Given the description of an element on the screen output the (x, y) to click on. 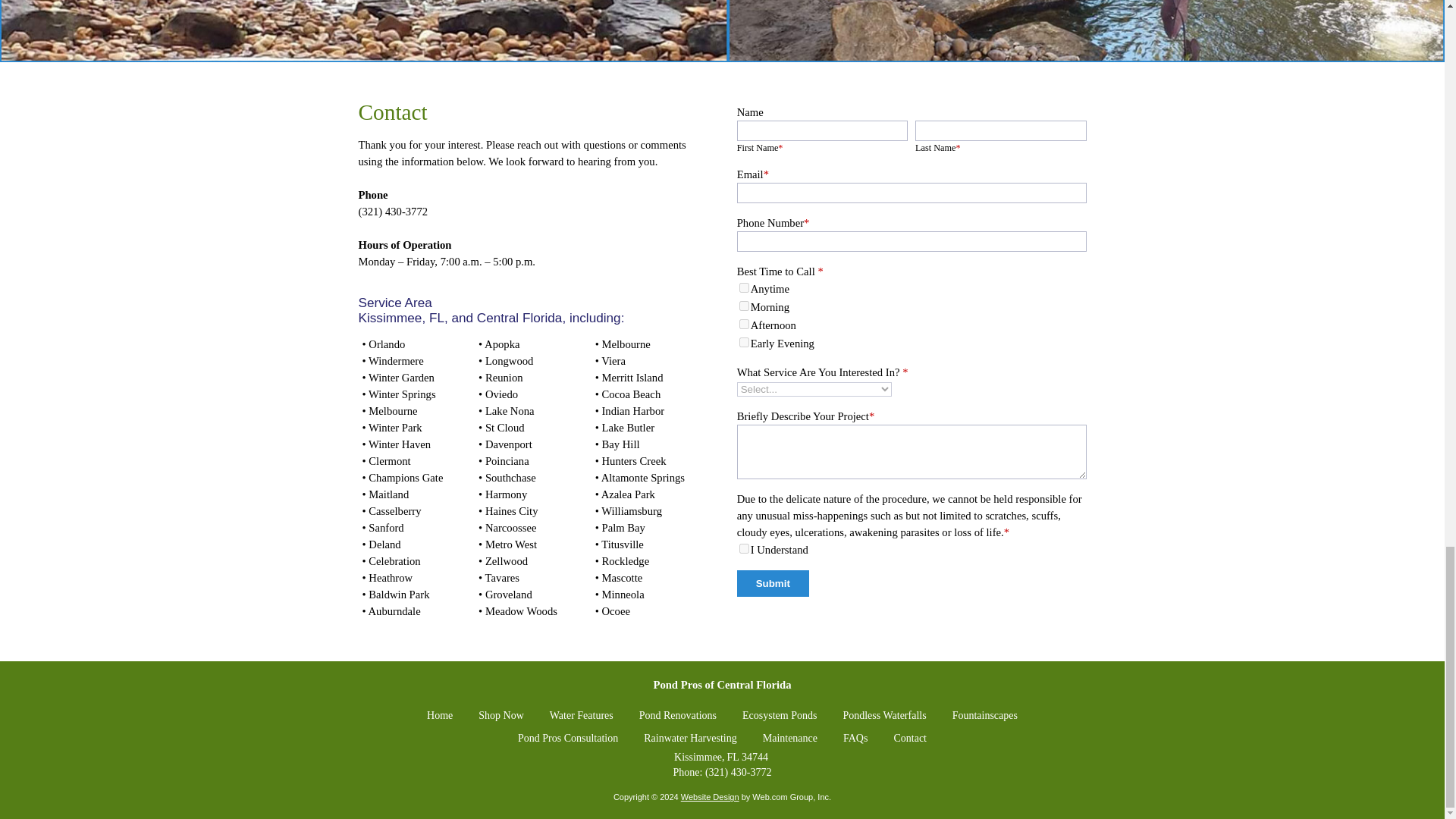
Afternoon (744, 324)
Anytime (744, 287)
Maintenance (789, 738)
Pond Pros Consultation (567, 738)
Ecosystem Ponds (779, 715)
Home (439, 715)
Submit (772, 583)
FAQs (855, 738)
Pond Renovations (677, 715)
I Understand (744, 548)
Fountainscapes (984, 715)
Rainwater Harvesting (689, 738)
Early Evening (744, 342)
Shop Now (501, 715)
Morning (744, 306)
